Given the description of an element on the screen output the (x, y) to click on. 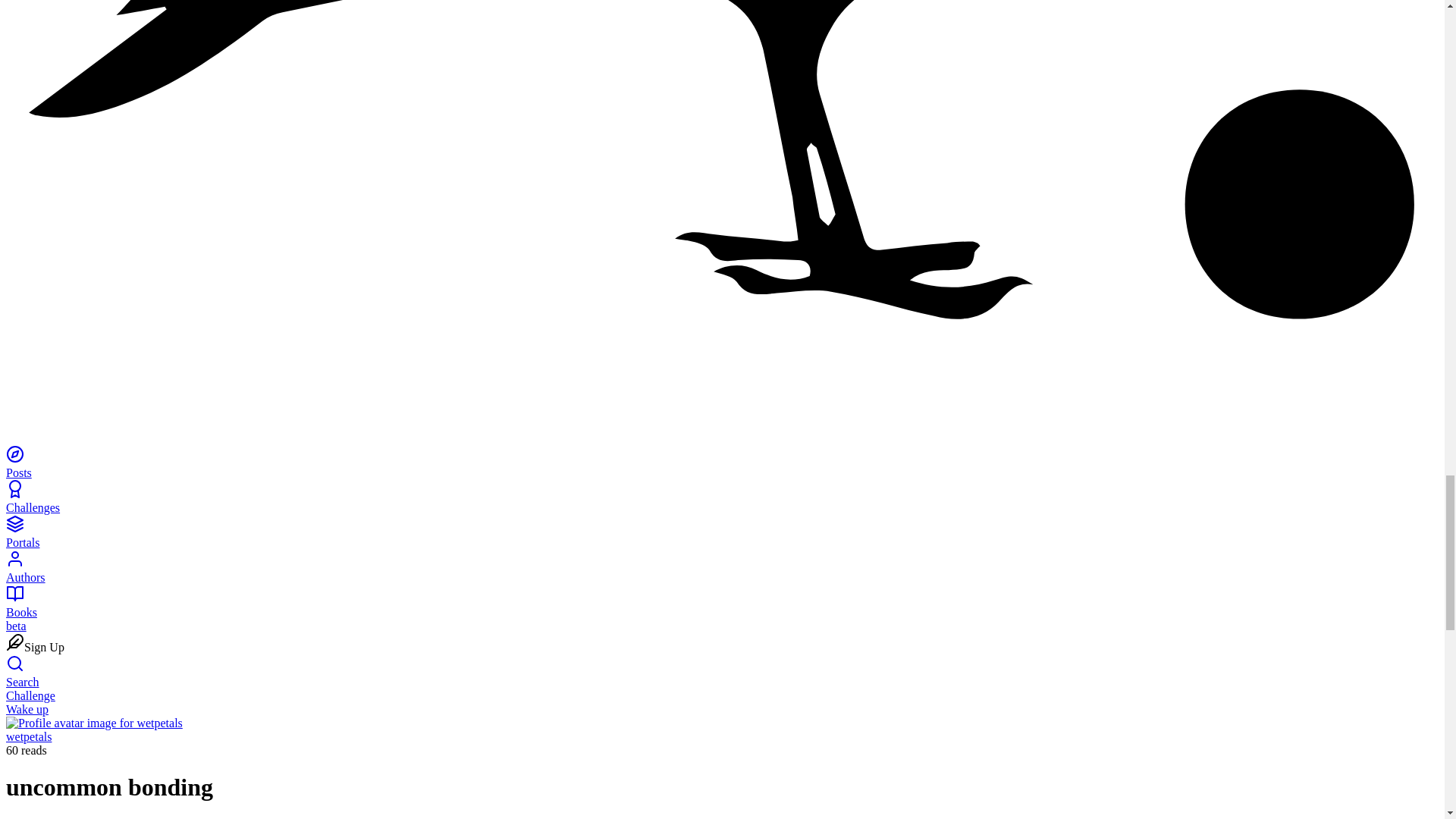
Challenge (30, 695)
wetpetals (27, 736)
